Given the description of an element on the screen output the (x, y) to click on. 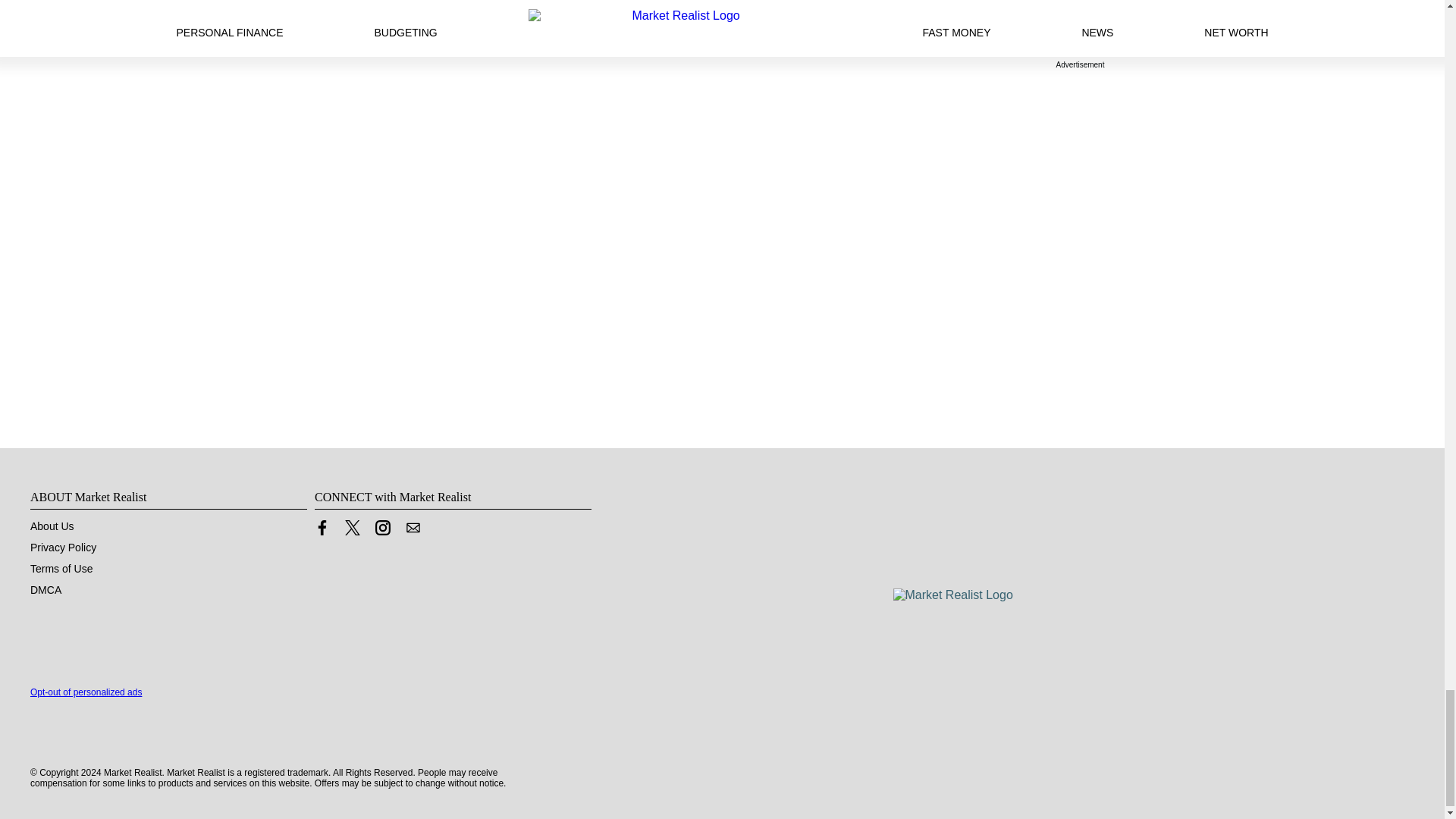
About Us (52, 526)
Link to Facebook (322, 527)
DMCA (45, 589)
Privacy Policy (63, 547)
Link to X (352, 527)
Link to X (352, 531)
Contact us by Email (413, 527)
Link to Instagram (382, 527)
Link to Facebook (322, 531)
Terms of Use (61, 568)
Opt-out of personalized ads (85, 692)
DMCA (45, 589)
About Us (52, 526)
Privacy Policy (63, 547)
Contact us by Email (413, 531)
